Given the description of an element on the screen output the (x, y) to click on. 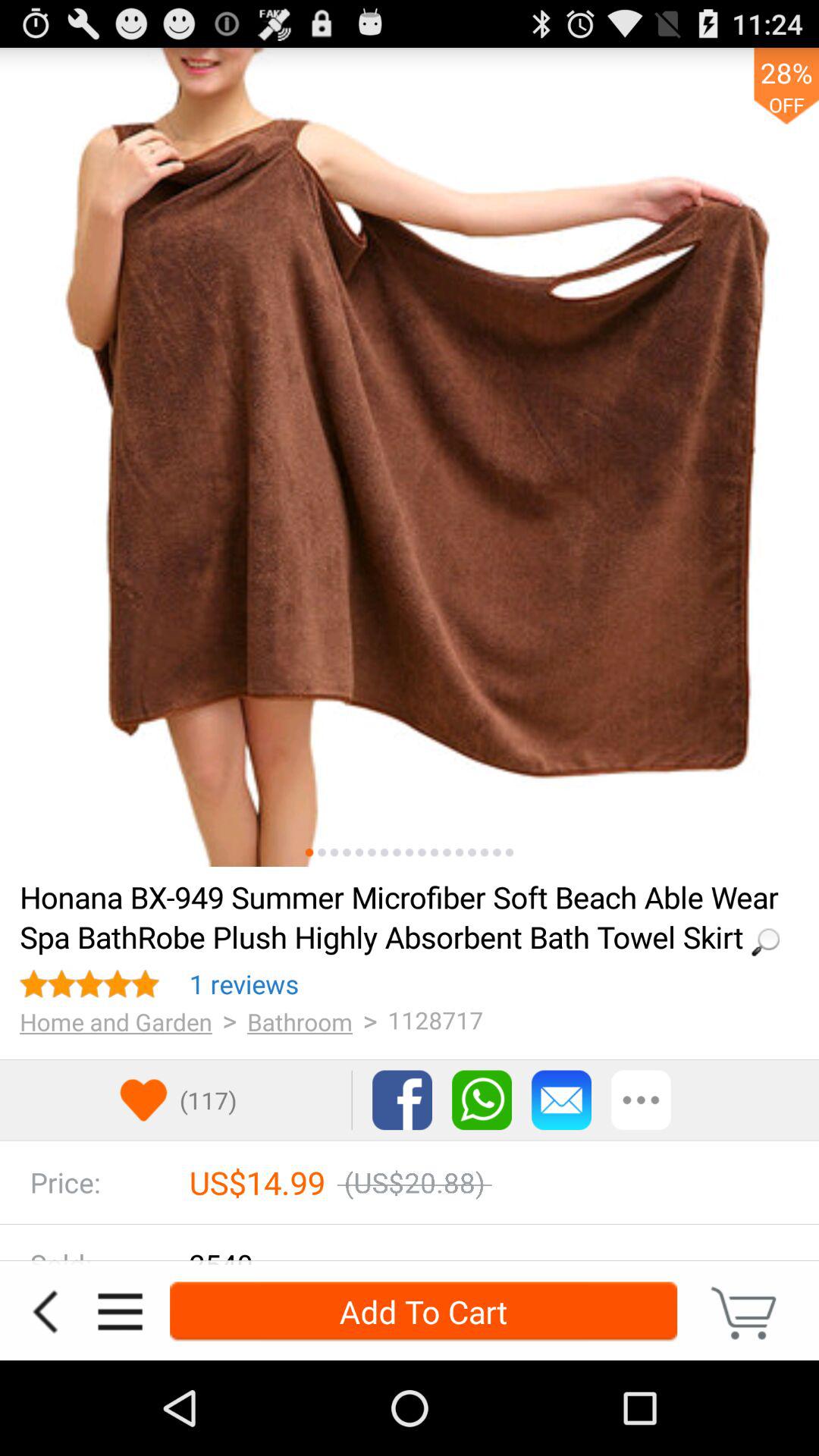
scroll next image (472, 852)
